Given the description of an element on the screen output the (x, y) to click on. 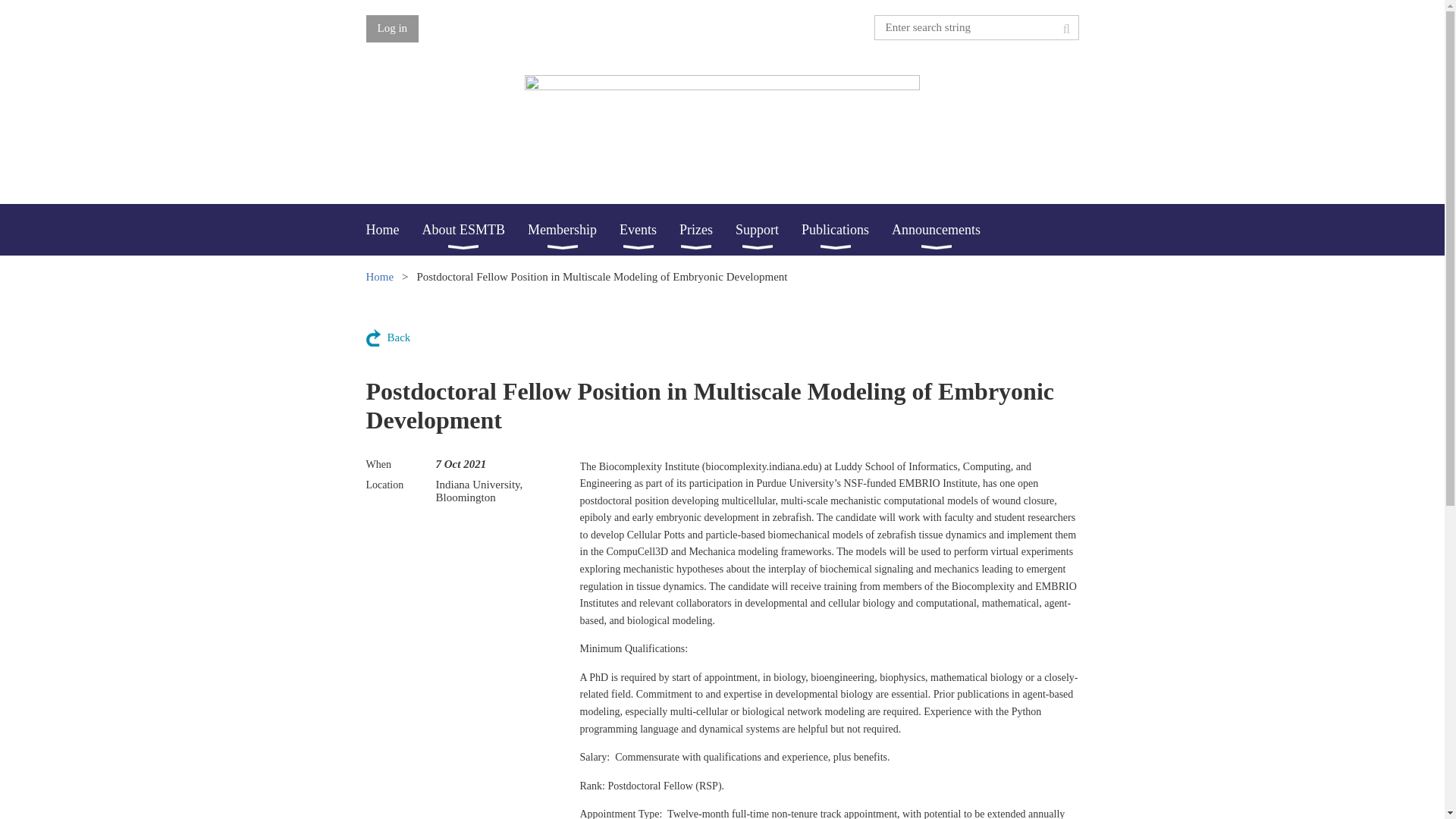
Support (768, 229)
Events (649, 229)
Home (393, 229)
Home (393, 229)
Announcements (947, 229)
Log in (392, 28)
Events (649, 229)
Membership (573, 229)
About ESMTB (474, 229)
About ESMTB (474, 229)
